Given the description of an element on the screen output the (x, y) to click on. 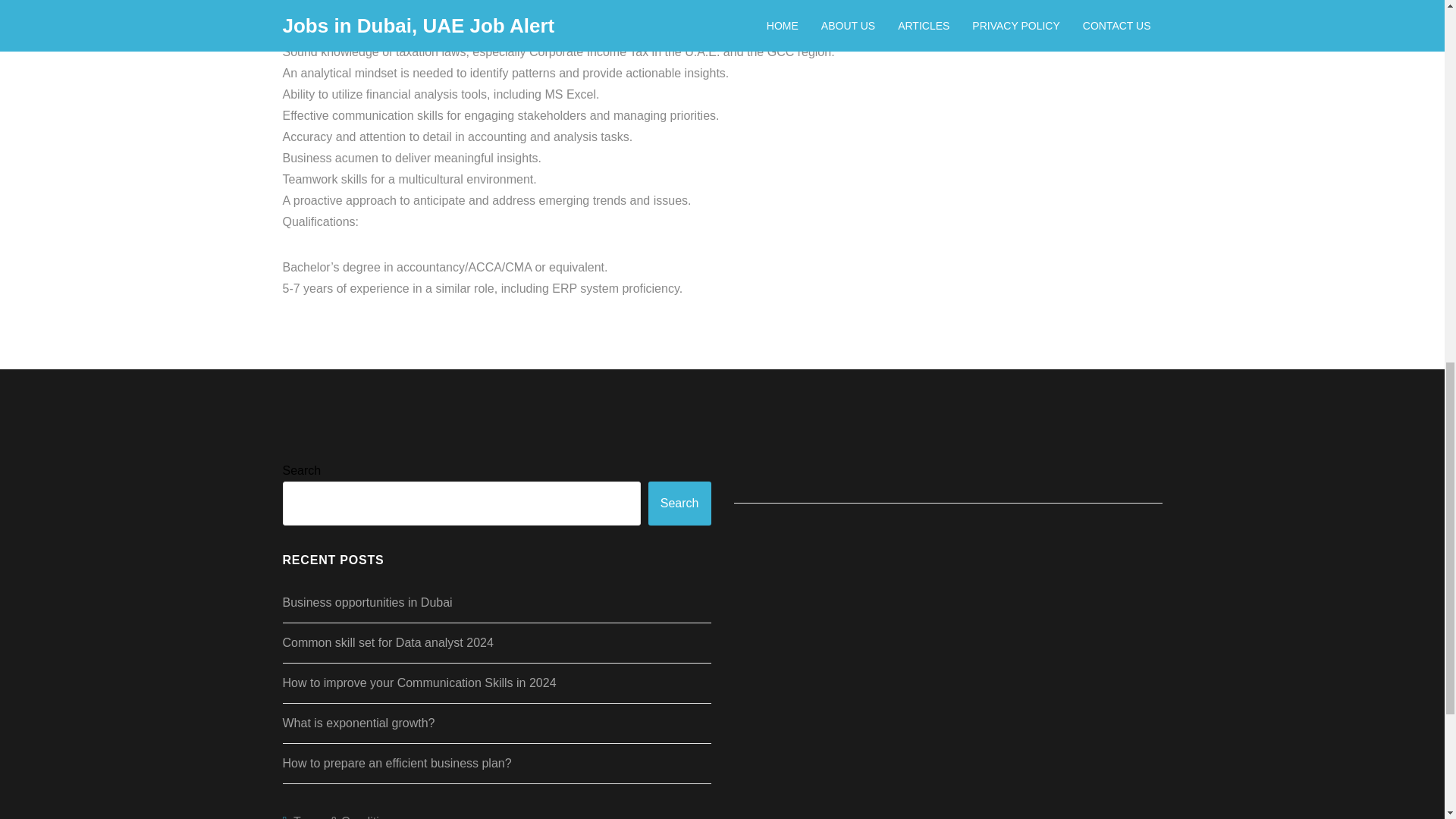
How to prepare an efficient business plan? (396, 762)
Business opportunities in Dubai (366, 602)
What is exponential growth? (357, 722)
Common skill set for Data analyst 2024 (387, 642)
Search (679, 503)
How to improve your Communication Skills in 2024 (419, 682)
